Given the description of an element on the screen output the (x, y) to click on. 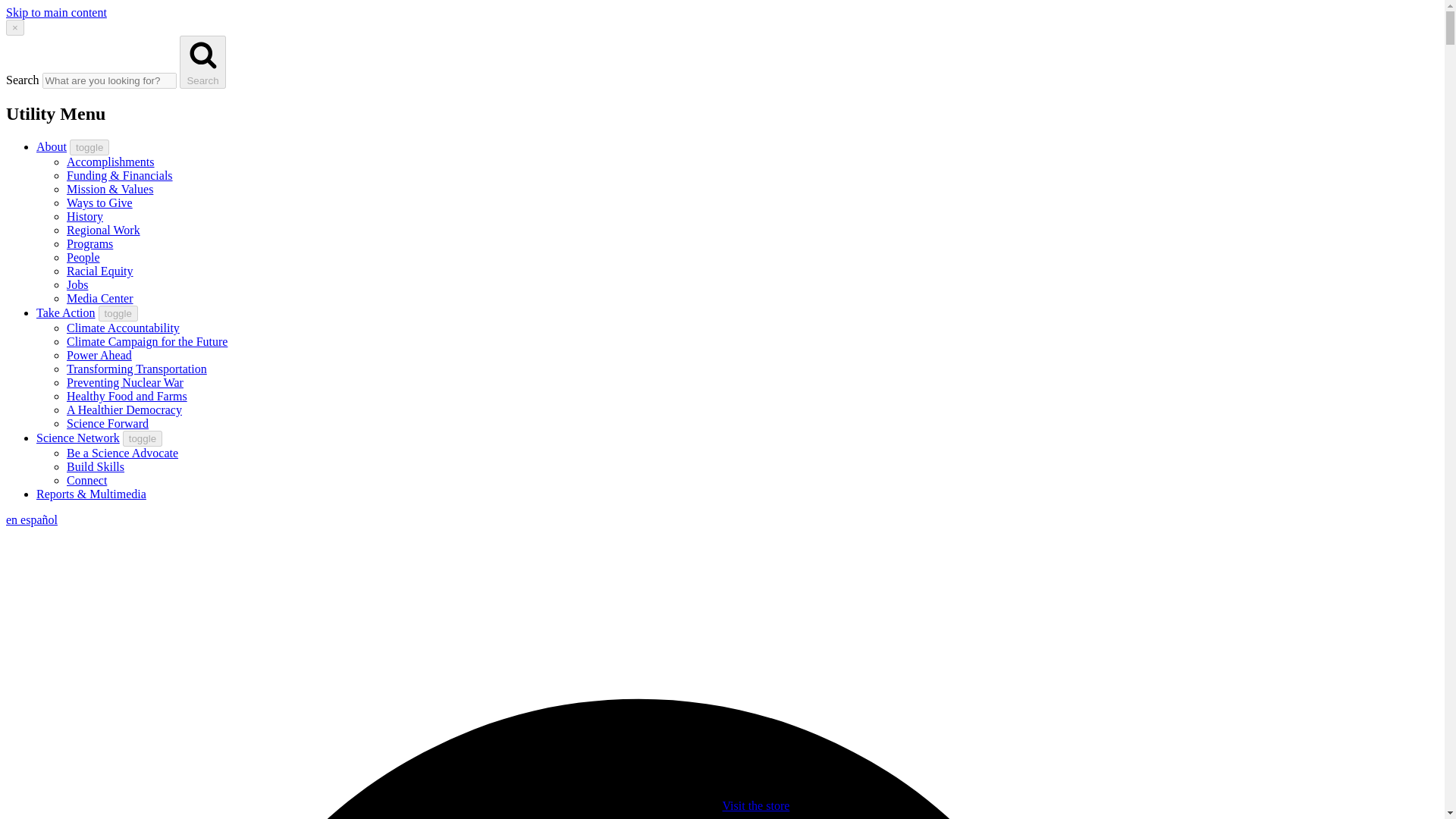
Connect (86, 480)
toggle (89, 147)
Ways to Give (99, 202)
Climate Campaign for the Future (146, 341)
Power Ahead (99, 354)
Racial Equity (99, 270)
Skip to main content (55, 11)
A Healthier Democracy (124, 409)
Media Center (99, 297)
Preventing Nuclear War (124, 382)
